Given the description of an element on the screen output the (x, y) to click on. 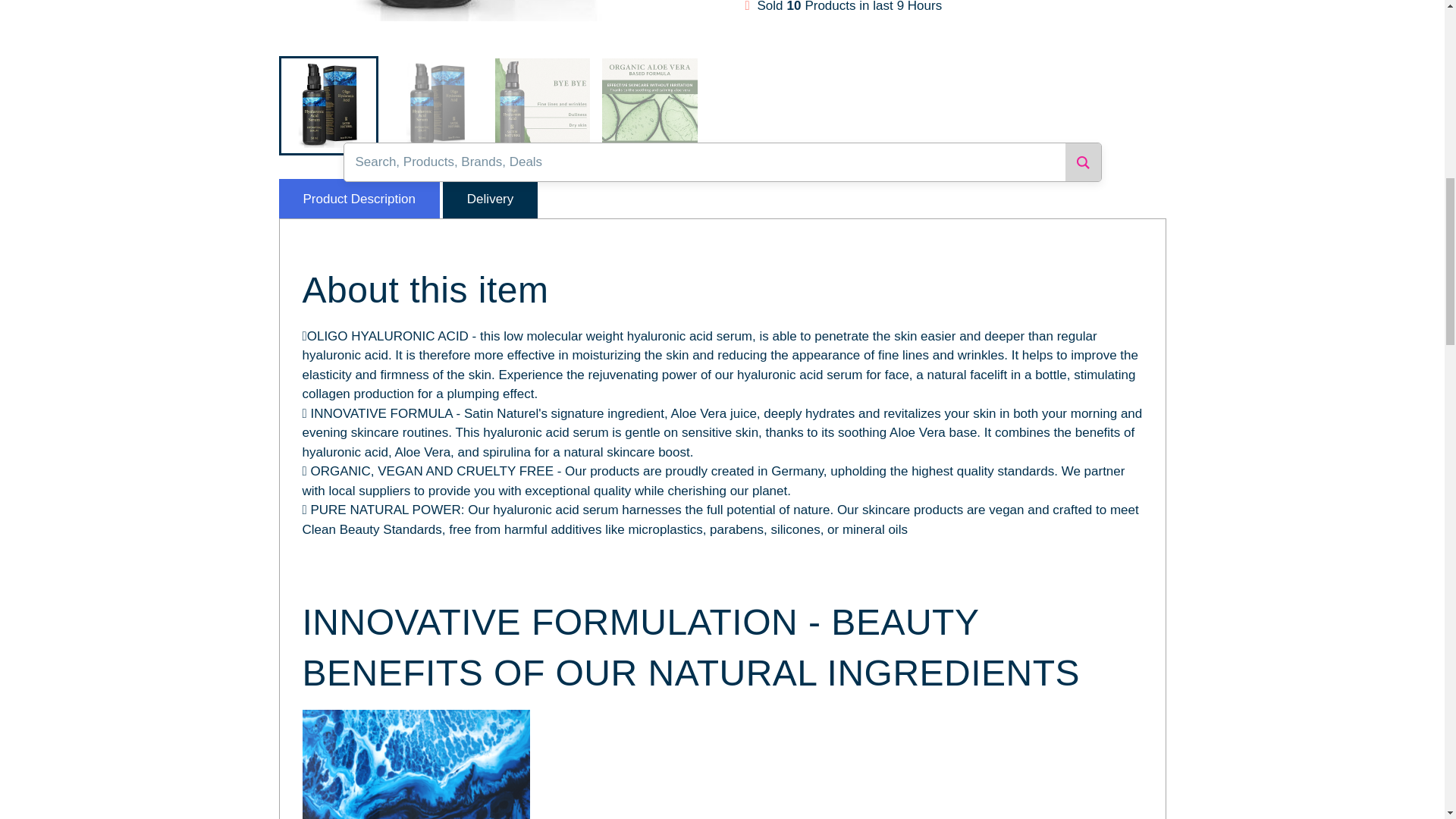
Satin Naturel Hyaluronic Acid Serum - 50ml (489, 22)
Satin Naturel Hyaluronic Acid Serum - 50ml (435, 105)
Satin Naturel Hyaluronic Acid Serum - 50ml (328, 105)
Satin Naturel Hyaluronic Acid Serum - 50ml (649, 105)
1 (767, 64)
Satin Naturel Hyaluronic Acid Serum - 50ml (542, 105)
